Given the description of an element on the screen output the (x, y) to click on. 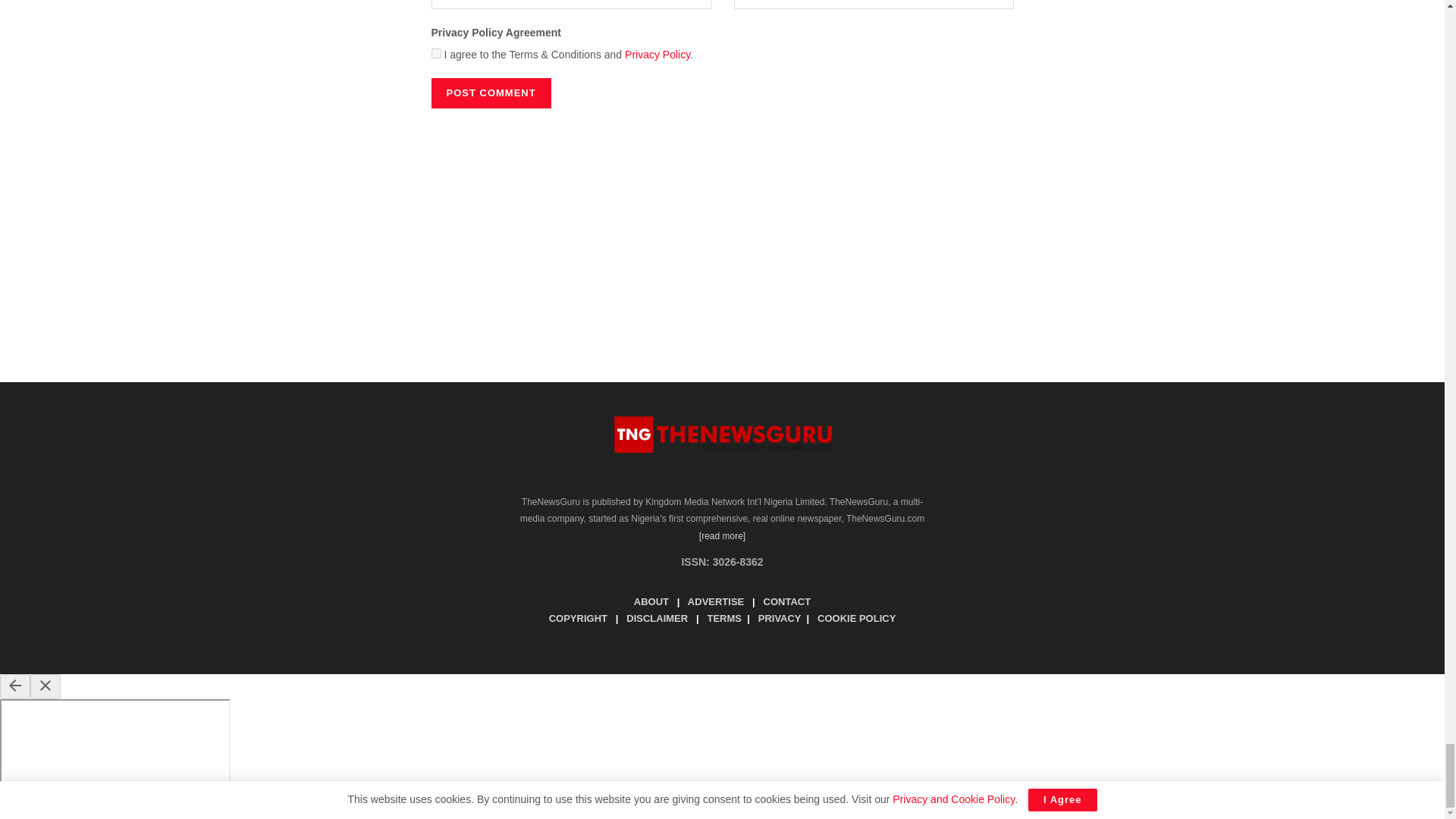
on (435, 53)
Post Comment (490, 92)
